Given the description of an element on the screen output the (x, y) to click on. 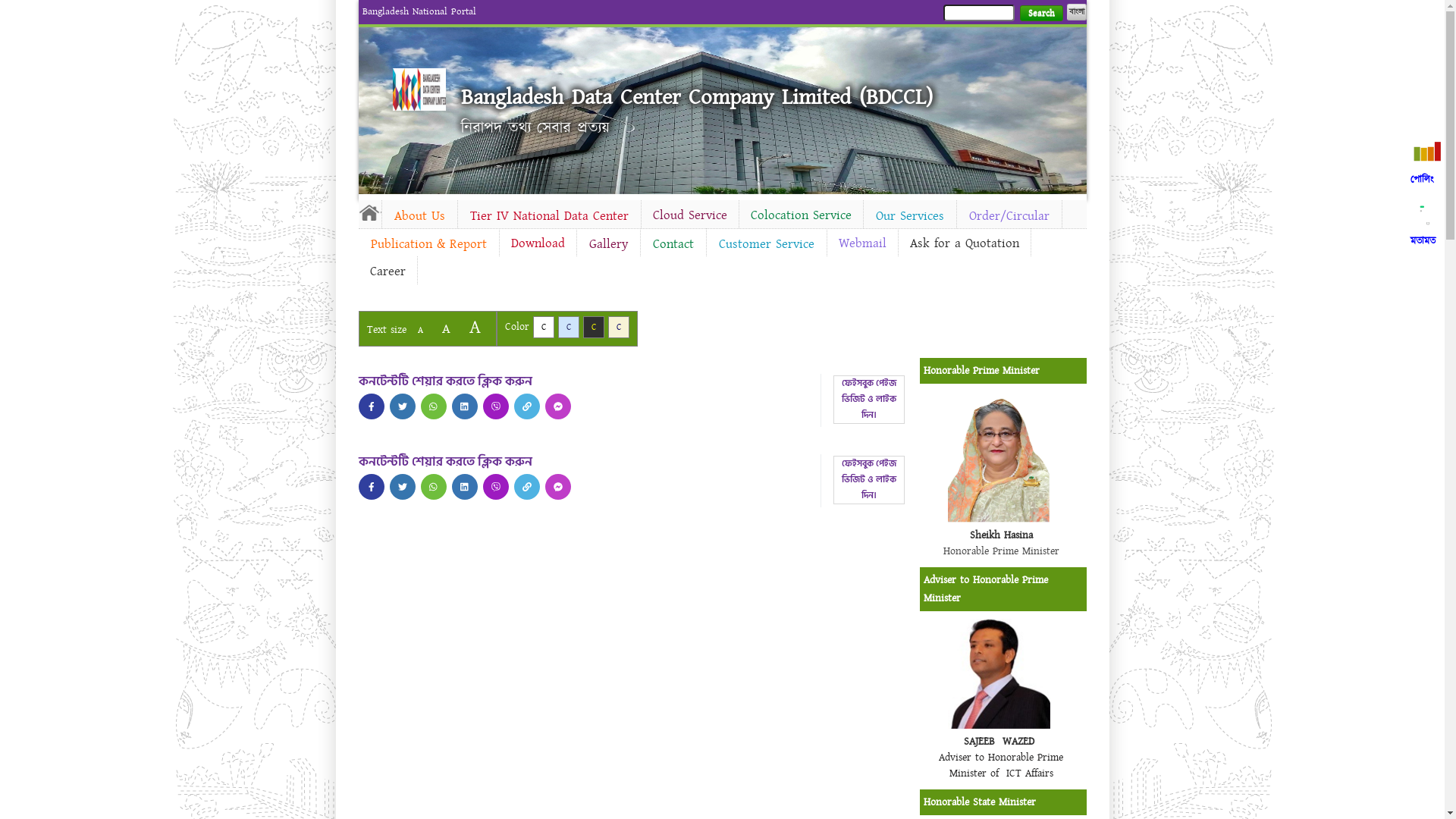
Order/Circular Element type: text (1009, 216)
Colocation Service Element type: text (800, 215)
Webmail Element type: text (861, 243)
C Element type: text (618, 327)
C Element type: text (592, 327)
Ask for a Quotation Element type: text (963, 243)
A Element type: text (445, 328)
Search Element type: text (1040, 13)
Home Element type: hover (418, 89)
Contact Element type: text (672, 244)
Bangladesh Data Center Company Limited (BDCCL) Element type: text (696, 96)
Publication & Report Element type: text (427, 244)
Gallery Element type: text (607, 244)
Download Element type: text (536, 243)
A Element type: text (419, 330)
C Element type: text (542, 327)
Career Element type: text (386, 271)
Our Services Element type: text (908, 216)
Cloud Service Element type: text (689, 215)
About Us Element type: text (419, 216)
C Element type: text (568, 327)
Bangladesh National Portal Element type: text (419, 11)
Tier IV National Data Center Element type: text (549, 216)
A Element type: text (474, 327)
Customer Service Element type: text (766, 244)
Home Element type: hover (368, 211)
